Given the description of an element on the screen output the (x, y) to click on. 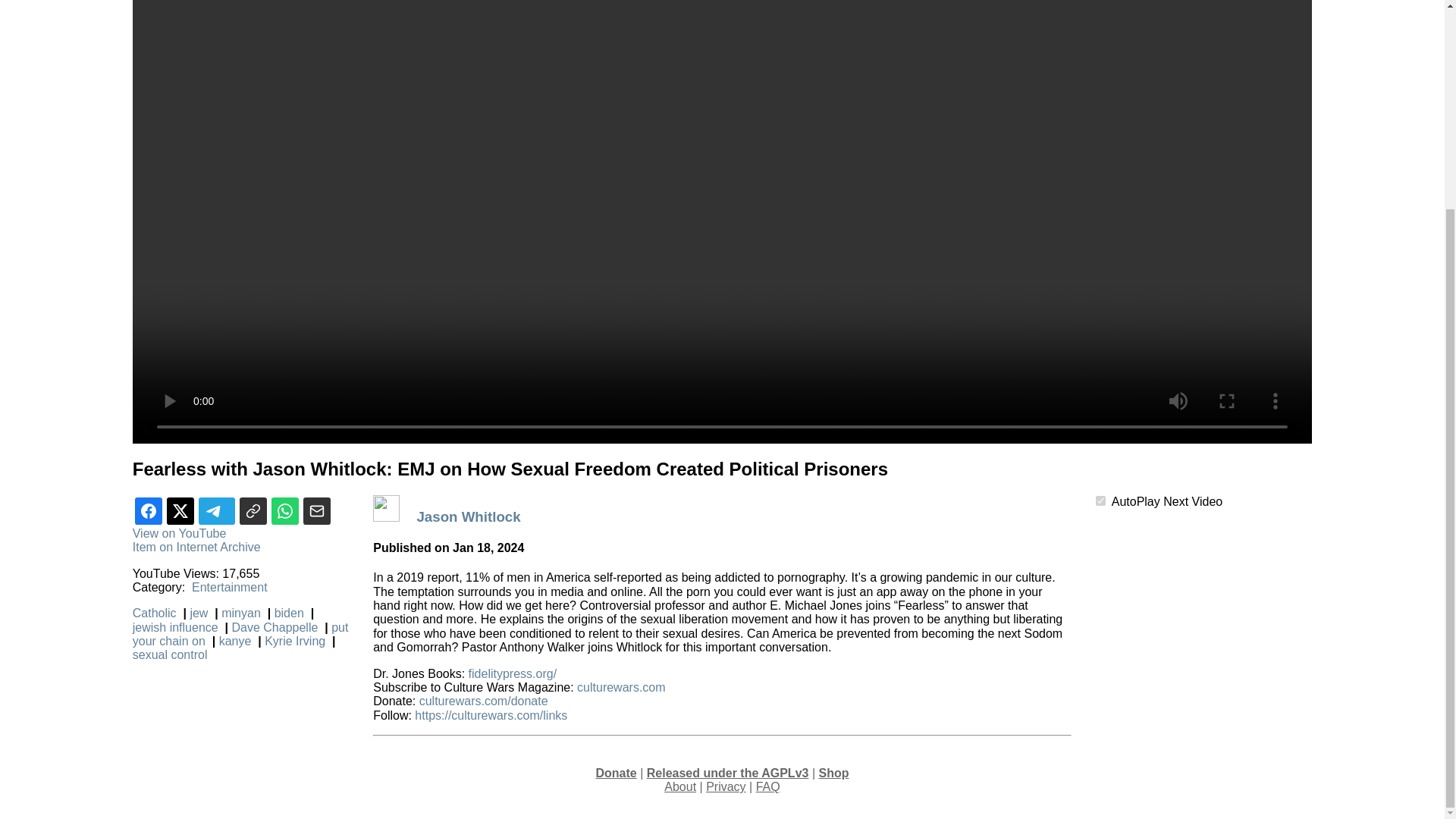
put your chain on  (240, 633)
jew  (201, 612)
Catholic  (155, 612)
Entertainment (229, 586)
sexual control  (171, 654)
Dave Chappelle  (277, 626)
Released under the AGPLv3 (727, 772)
View on YouTube (179, 533)
Donate (615, 772)
Kyrie Irving  (297, 640)
FAQ (767, 786)
minyan  (243, 612)
Shop (833, 772)
jewish influence  (178, 626)
Jason Whitlock (470, 516)
